Given the description of an element on the screen output the (x, y) to click on. 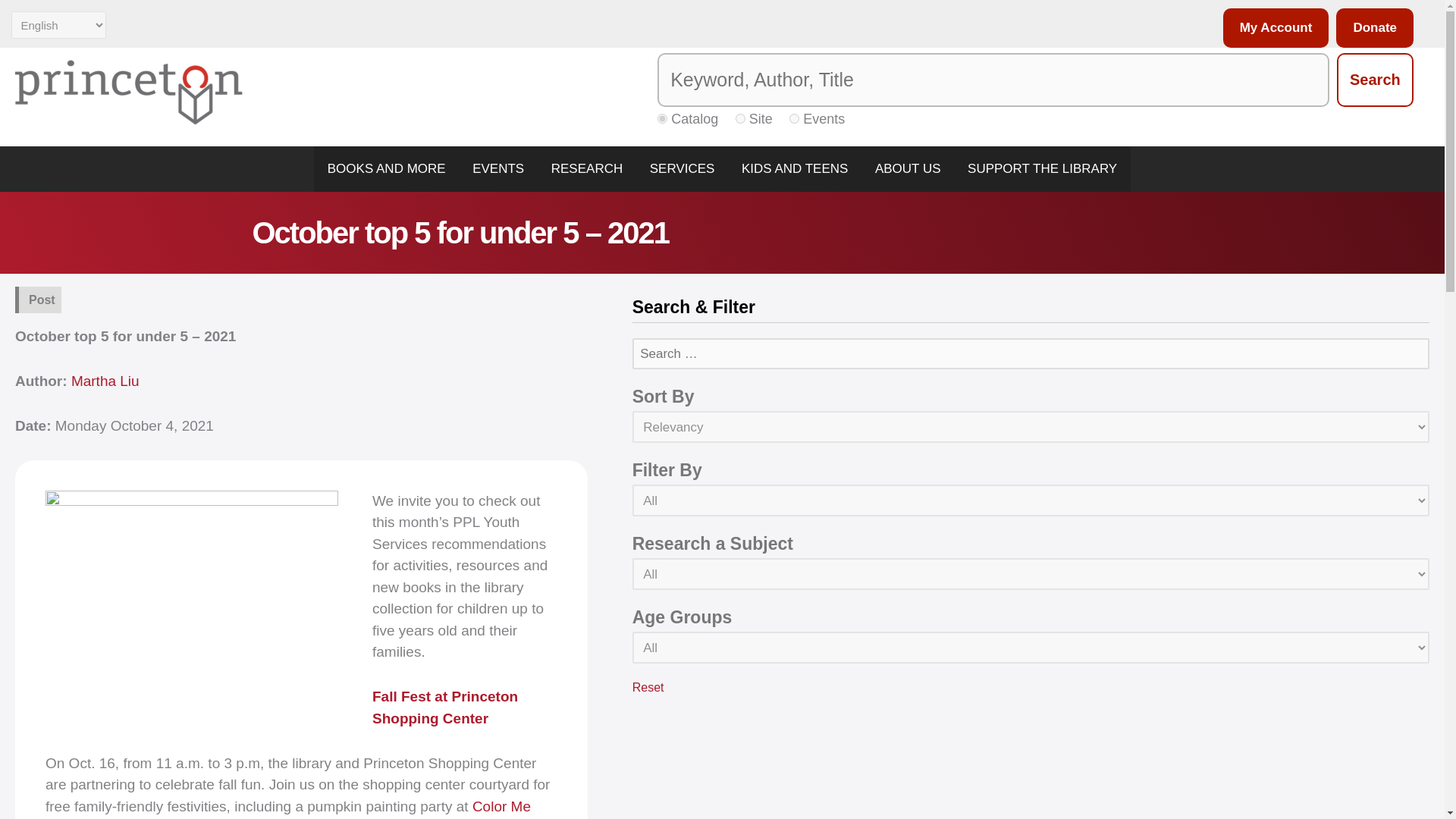
Search (1374, 80)
My Account (1272, 27)
EVENTS (497, 168)
Martha Liu (105, 381)
KIDS AND TEENS (794, 168)
Posts by Martha Liu (105, 381)
Color Me Mine (288, 808)
ABOUT US (907, 168)
events (794, 118)
Reset (647, 686)
